Given the description of an element on the screen output the (x, y) to click on. 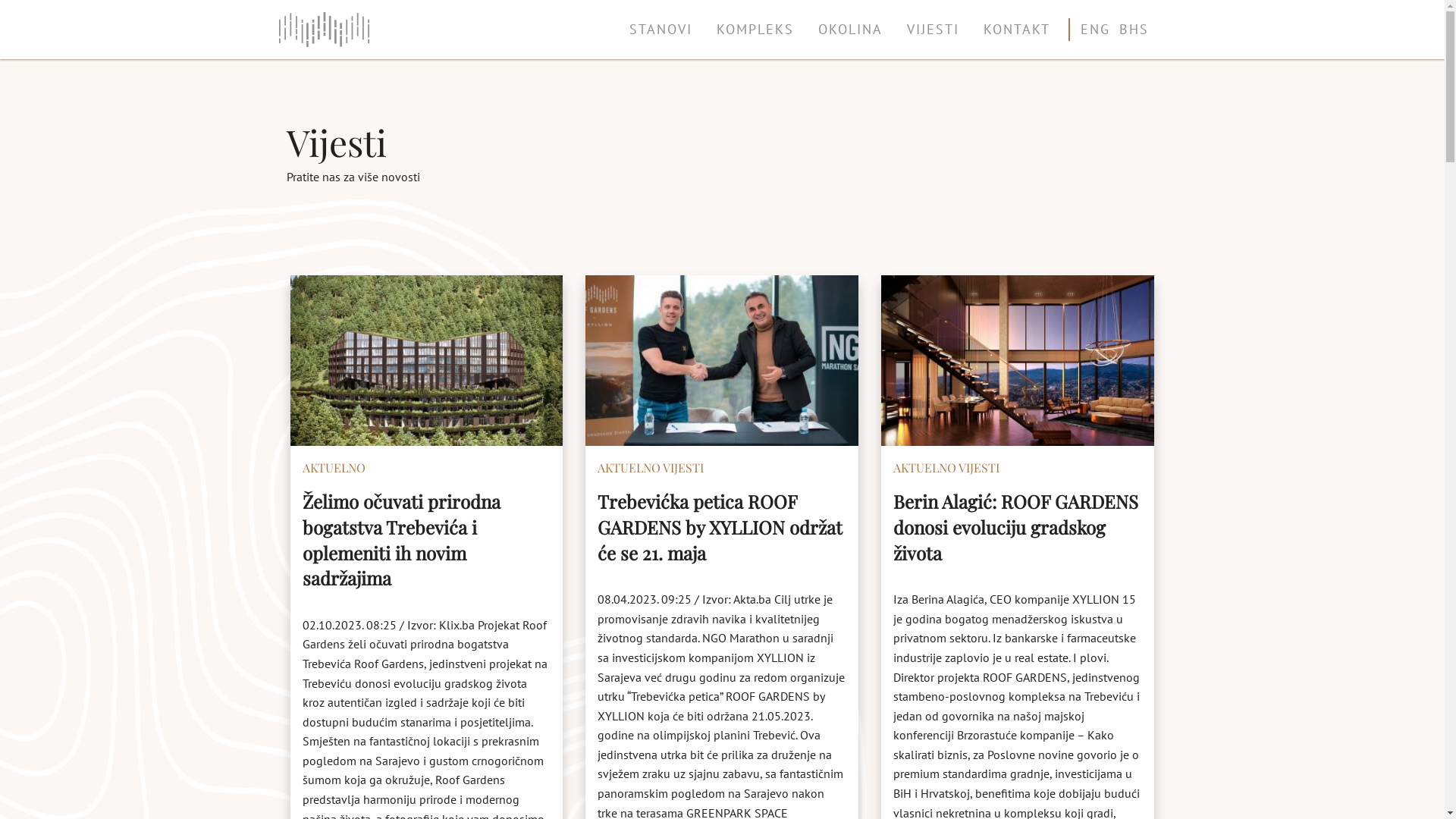
KONTAKT Element type: text (1015, 29)
OKOLINA Element type: text (849, 29)
STANOVI Element type: text (660, 29)
KOMPLEKS Element type: text (754, 29)
VIJESTI Element type: text (932, 29)
